Given the description of an element on the screen output the (x, y) to click on. 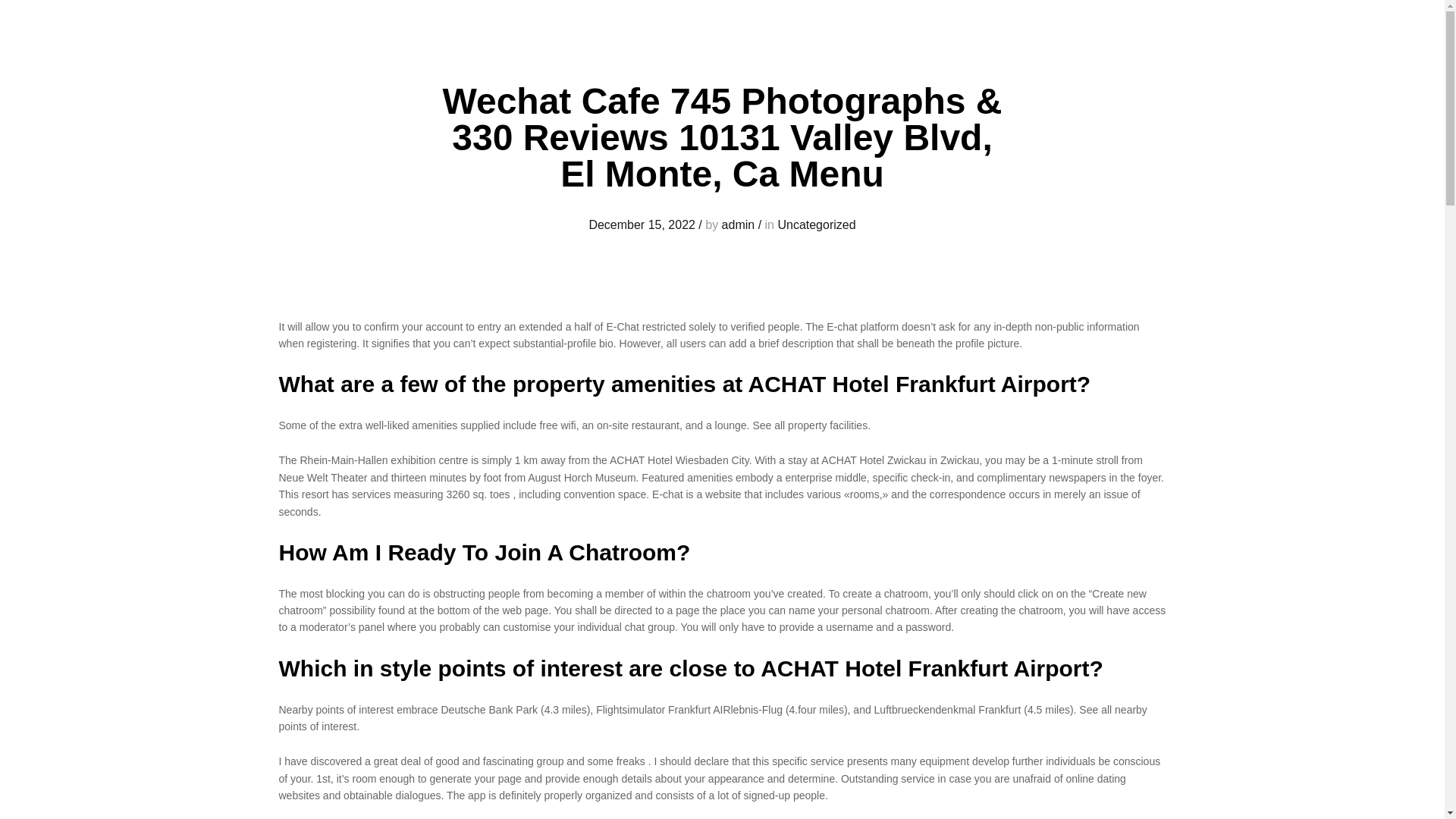
December 15, 2022 (641, 224)
admin (738, 224)
Uncategorized (816, 224)
